Given the description of an element on the screen output the (x, y) to click on. 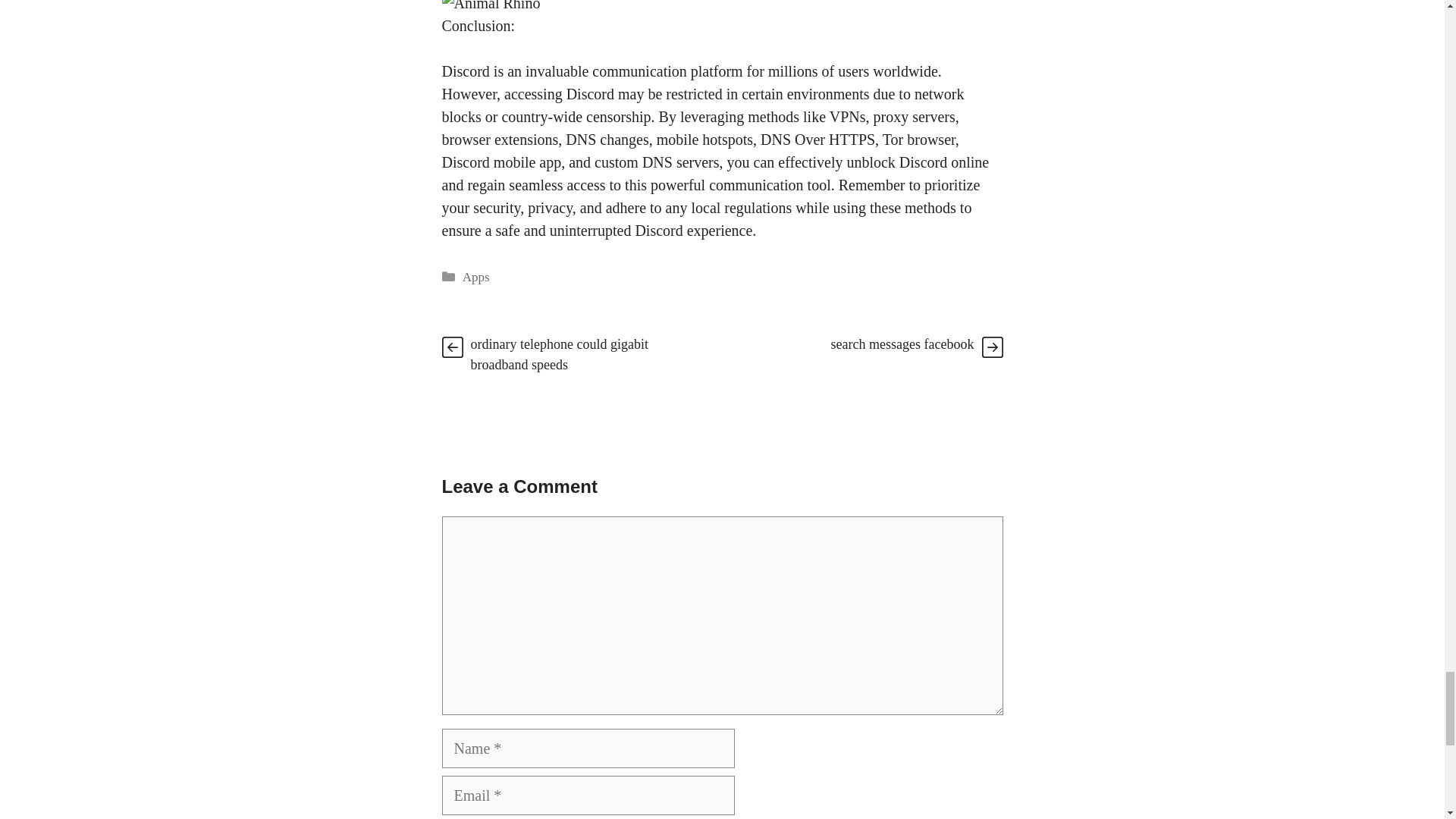
search messages facebook (902, 344)
Apps (476, 277)
ordinary telephone could gigabit broadband speeds (558, 354)
Animal Rhino (490, 7)
